Given the description of an element on the screen output the (x, y) to click on. 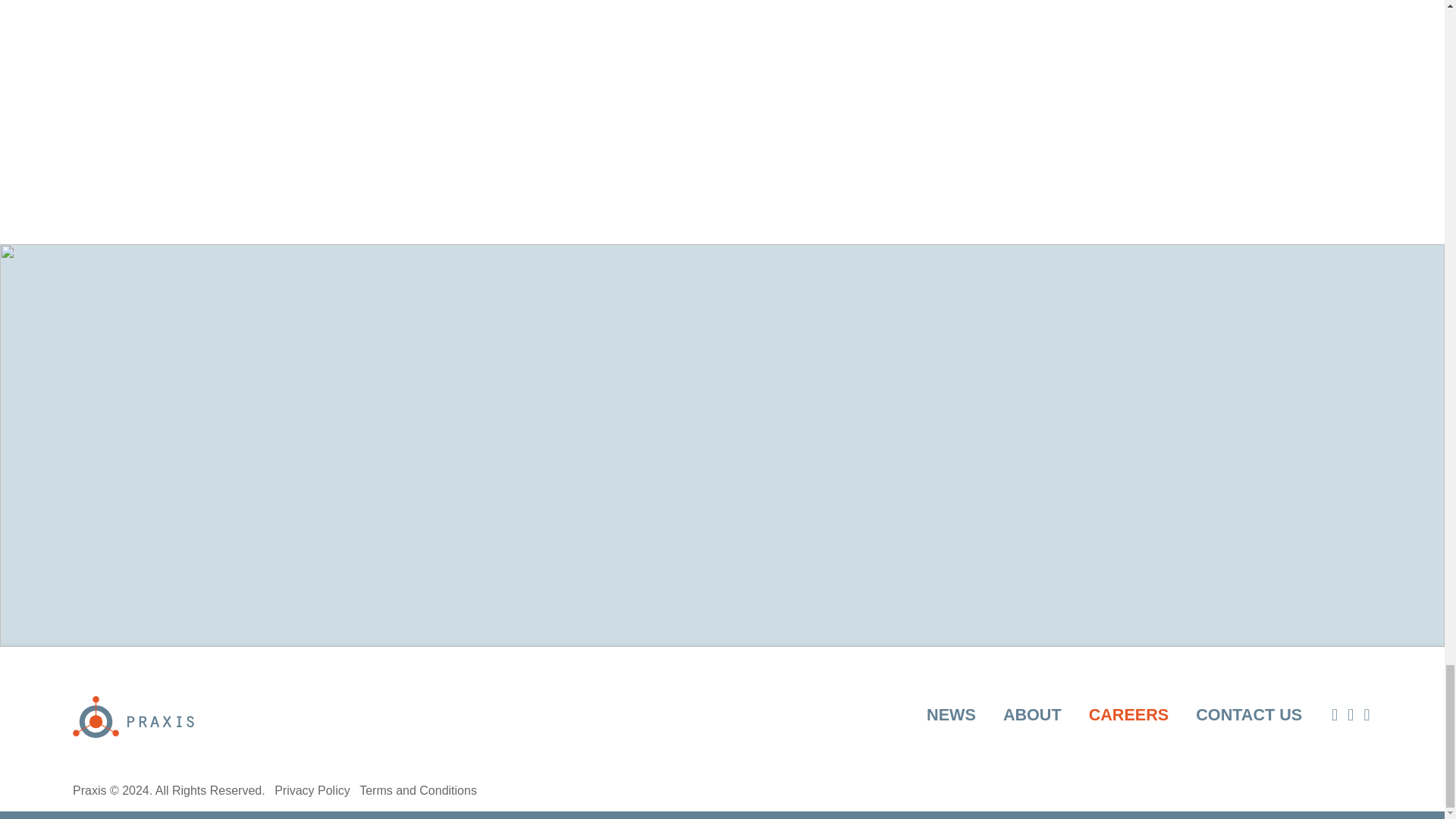
ABOUT (1032, 714)
NEWS (950, 714)
Terms and Conditions (418, 789)
Privacy Policy (312, 789)
CAREERS (1129, 714)
CONTACT US (1248, 714)
PRAXIS (132, 715)
